Given the description of an element on the screen output the (x, y) to click on. 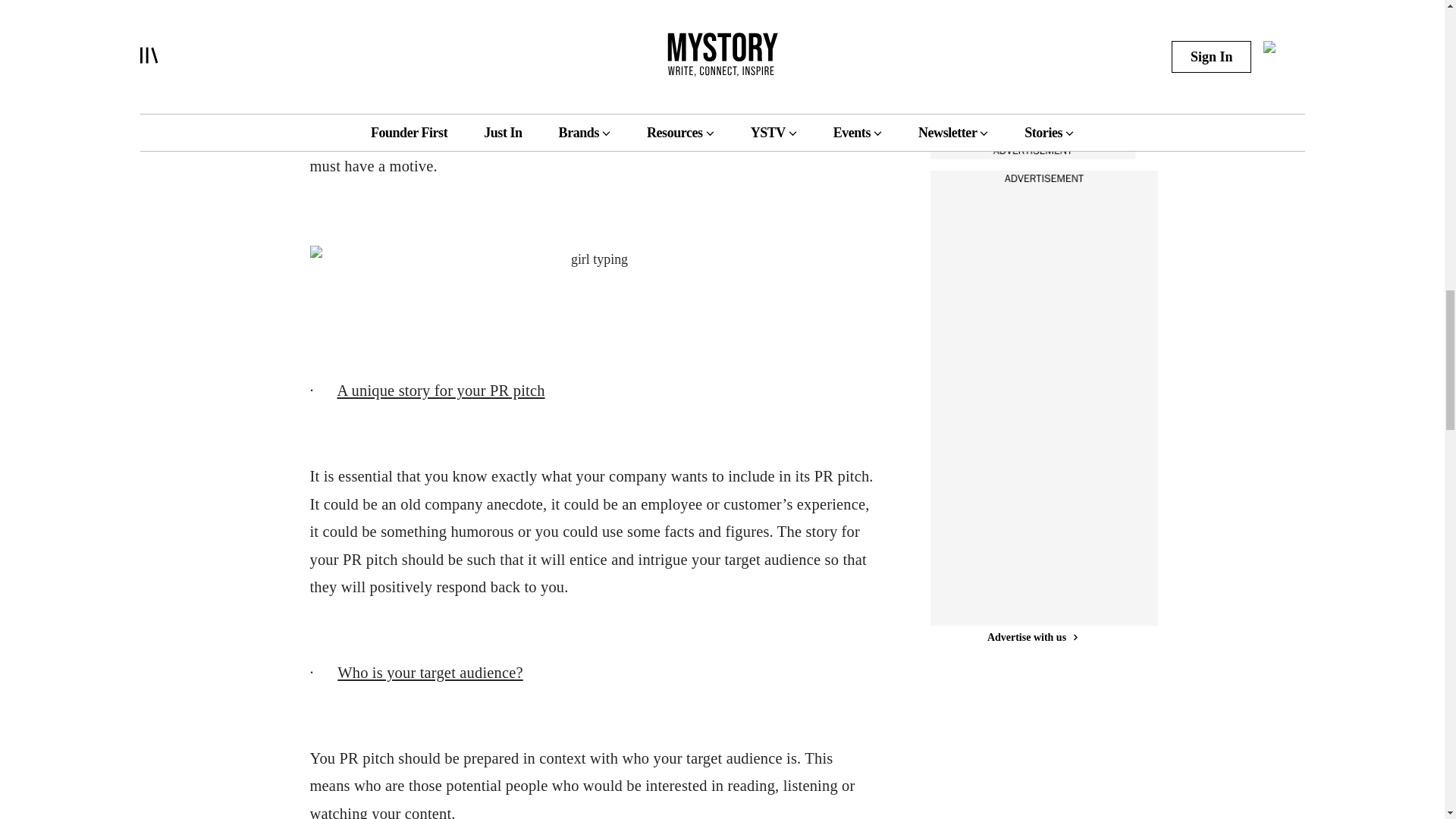
Top 10 Best Driver Updater Software In 2020 (1012, 8)
Advertise with us (1032, 150)
REVIEWS (979, 57)
Advertise with us (1032, 637)
